Given the description of an element on the screen output the (x, y) to click on. 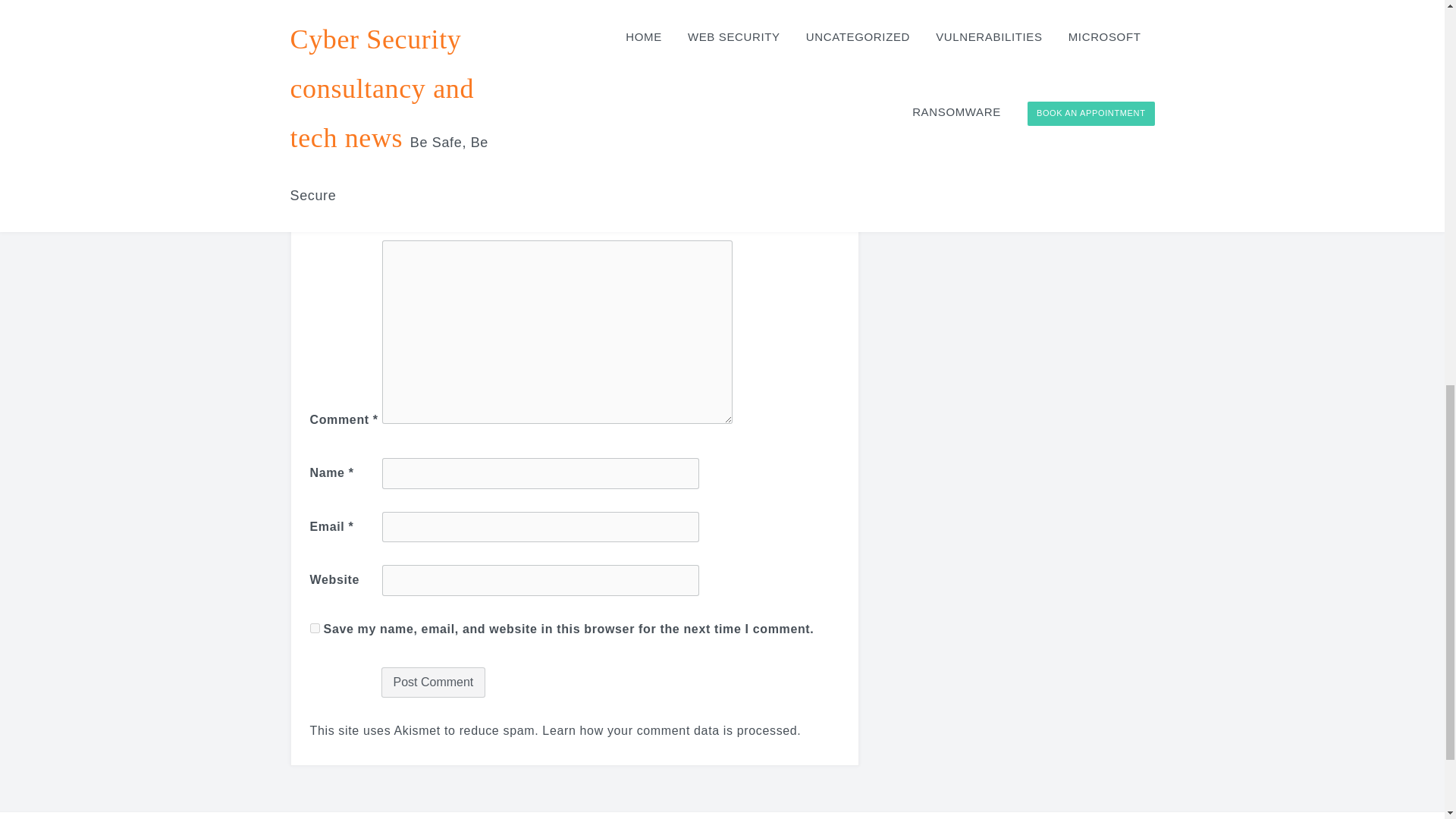
security (396, 6)
IT (361, 6)
threats (446, 6)
Learn how your comment data is processed (668, 730)
yes (313, 628)
Post Comment (432, 682)
Post Comment (432, 682)
